Given the description of an element on the screen output the (x, y) to click on. 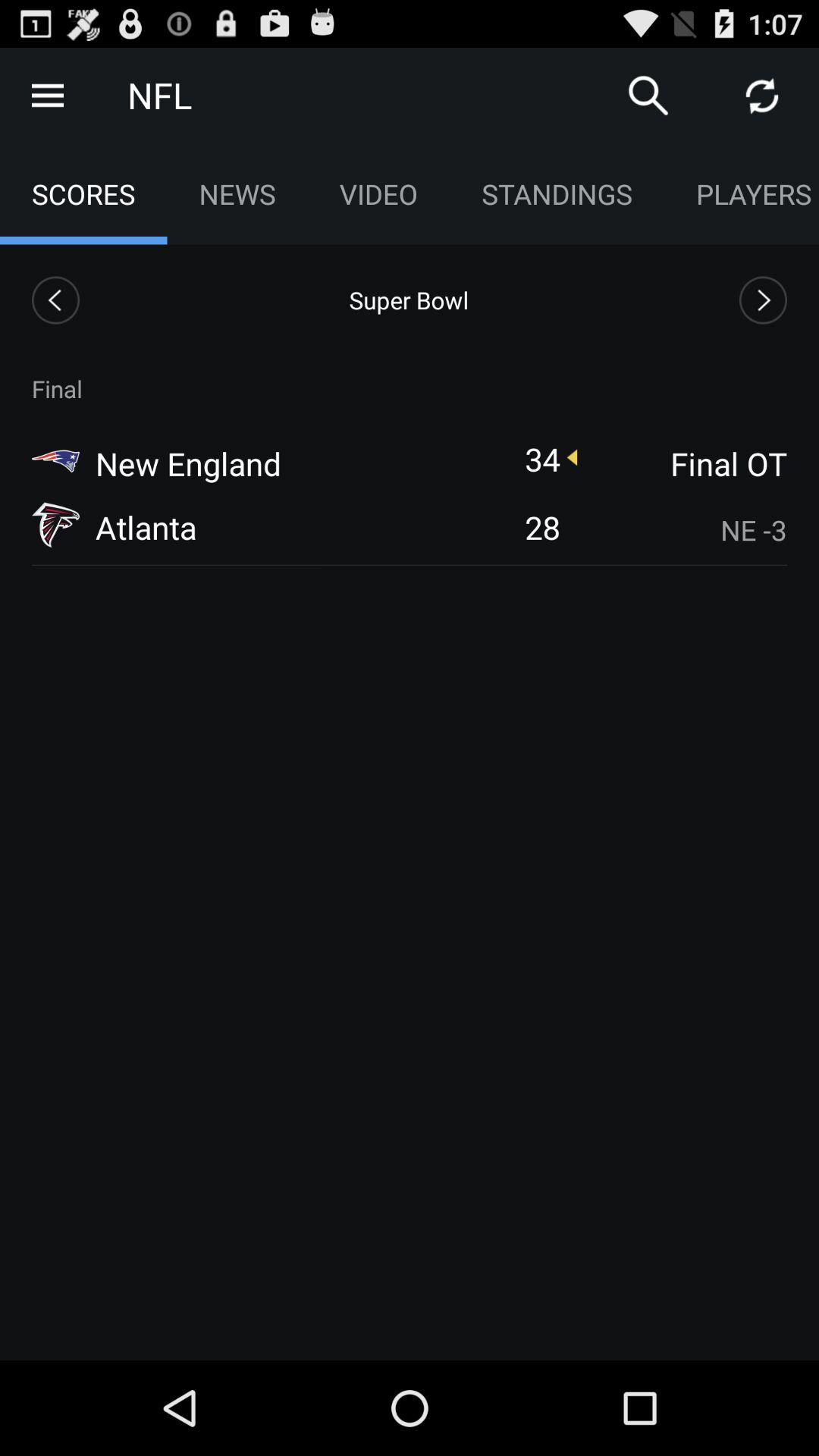
tap the app to the right of the new england (542, 458)
